Given the description of an element on the screen output the (x, y) to click on. 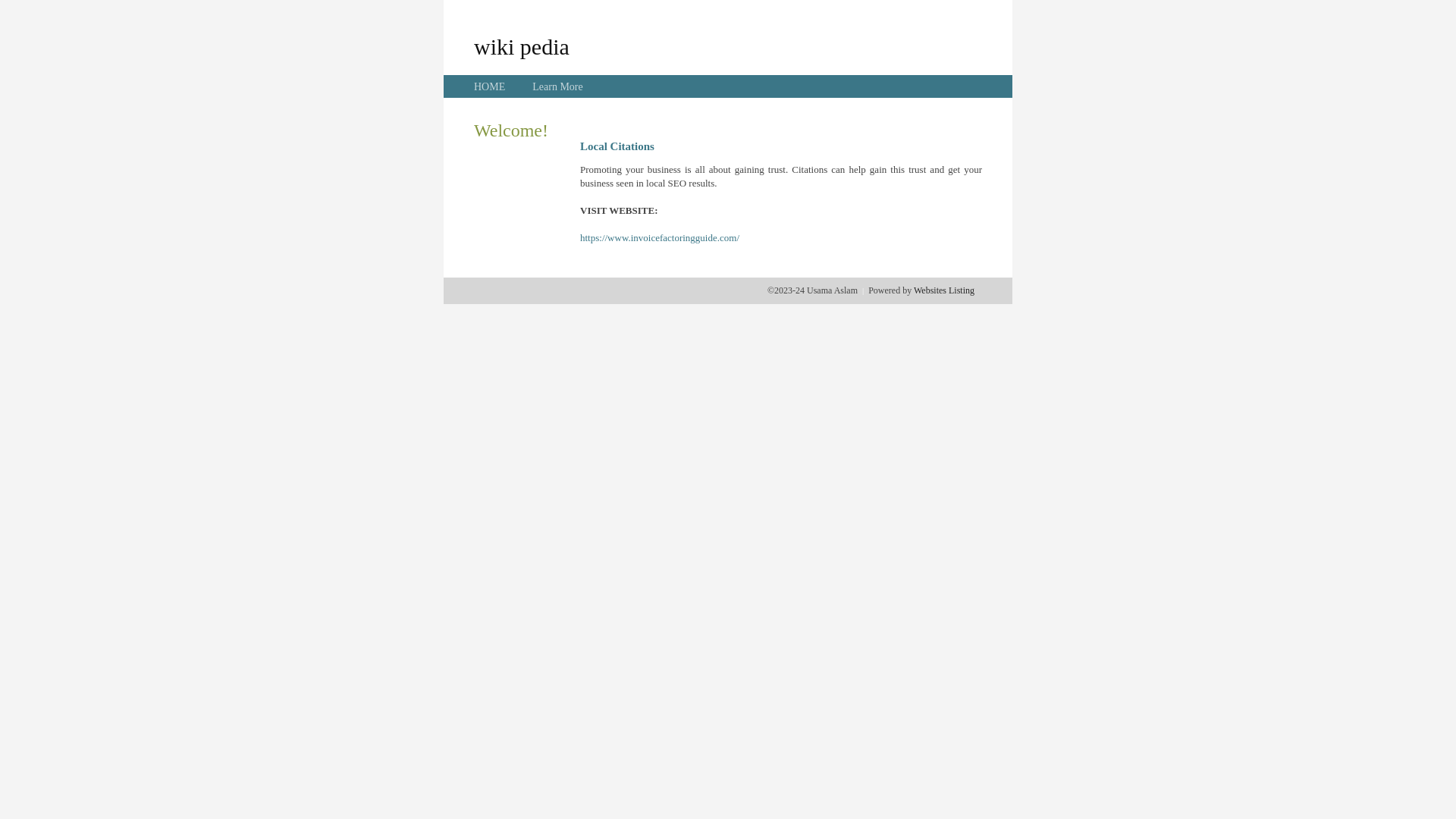
Learn More Element type: text (557, 86)
HOME Element type: text (489, 86)
https://www.invoicefactoringguide.com/ Element type: text (659, 237)
wiki pedia Element type: text (521, 46)
Websites Listing Element type: text (943, 290)
